Given the description of an element on the screen output the (x, y) to click on. 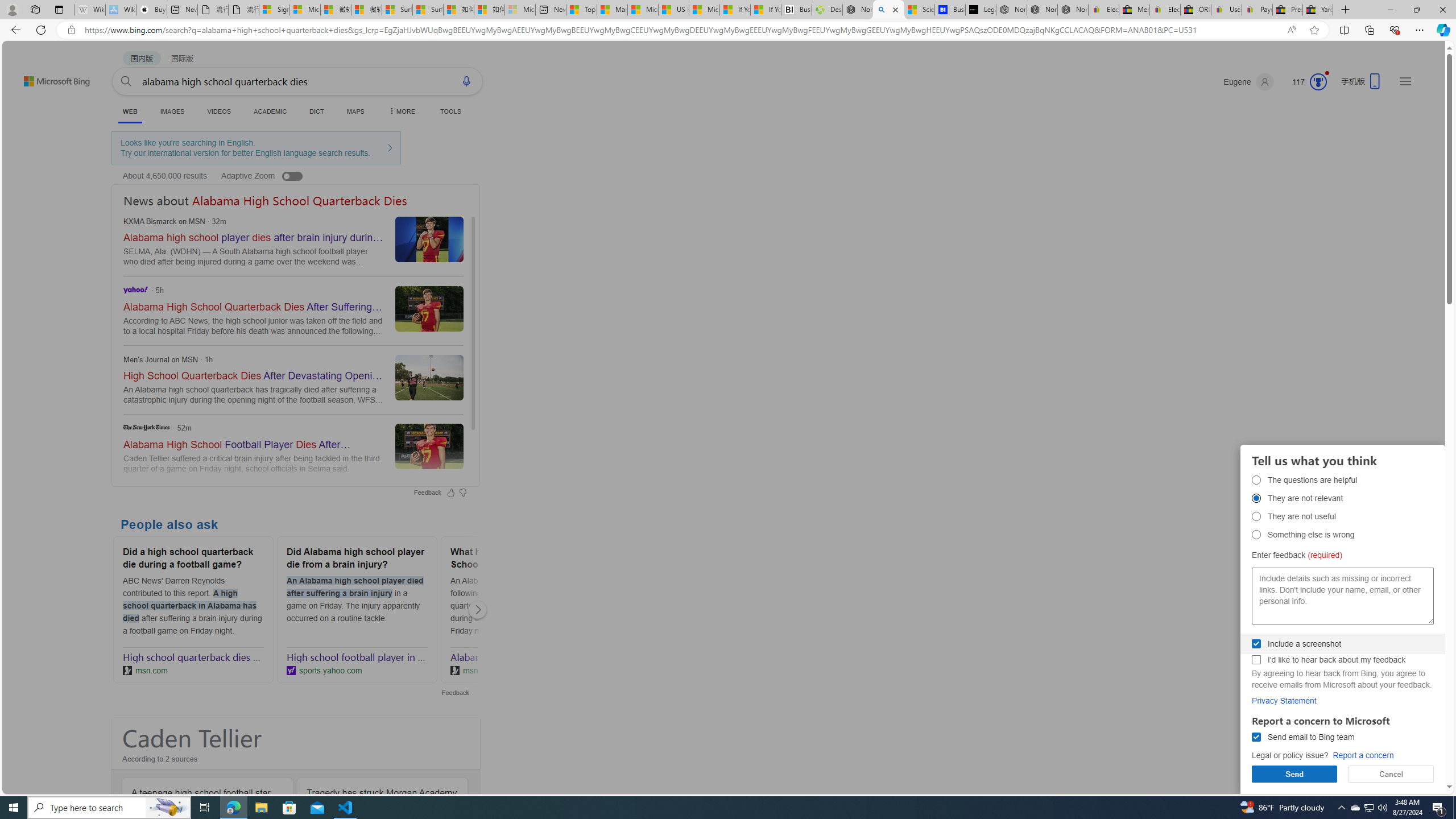
Privacy Statement (1284, 700)
App bar (728, 29)
Marine life - MSN (611, 9)
Payments Terms of Use | eBay.com (1256, 9)
User Privacy Notice | eBay (1226, 9)
